Given the description of an element on the screen output the (x, y) to click on. 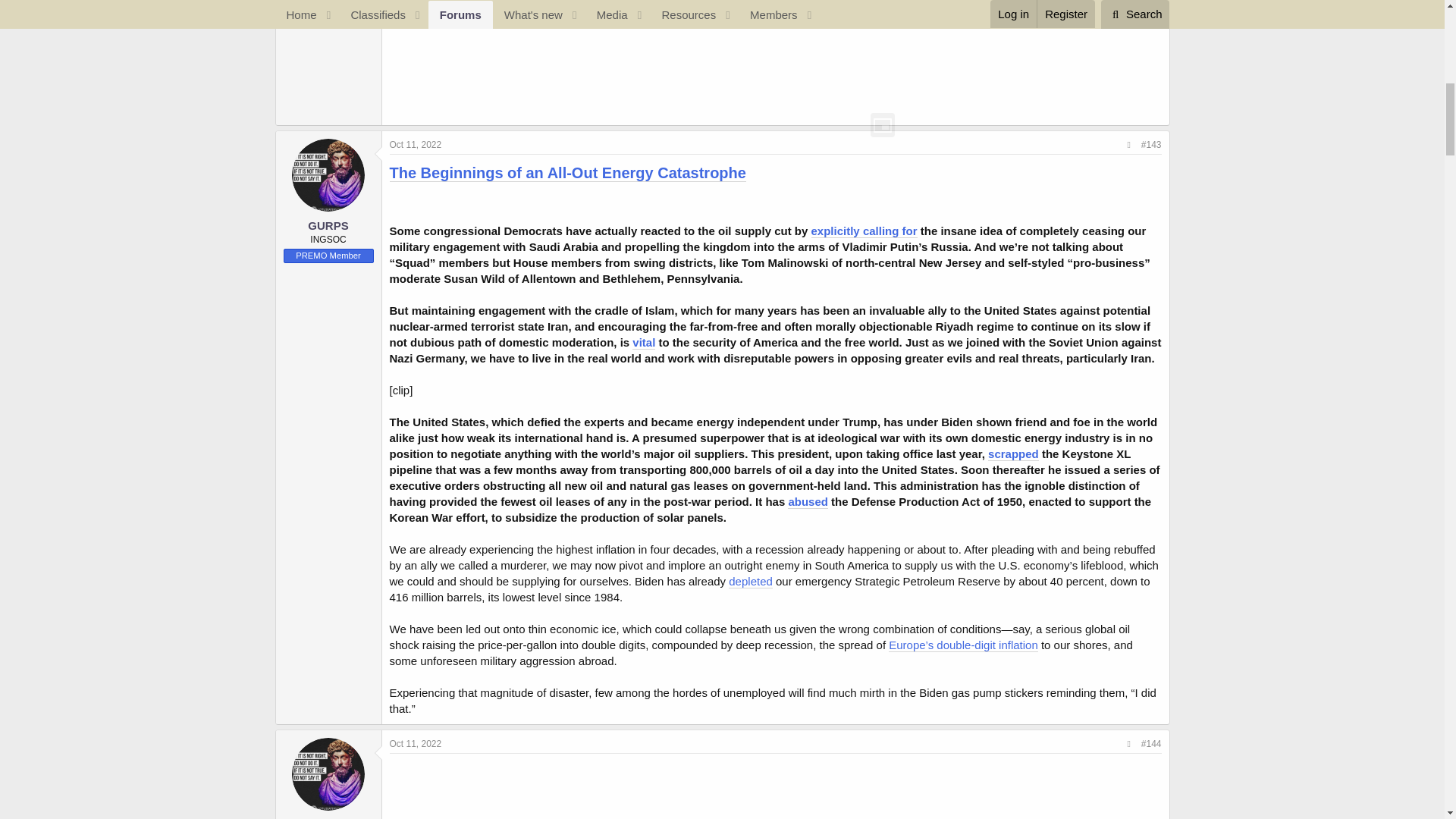
Oct 11, 2022 at 6:36 AM (416, 743)
Oct 11, 2022 at 6:23 AM (416, 144)
